Given the description of an element on the screen output the (x, y) to click on. 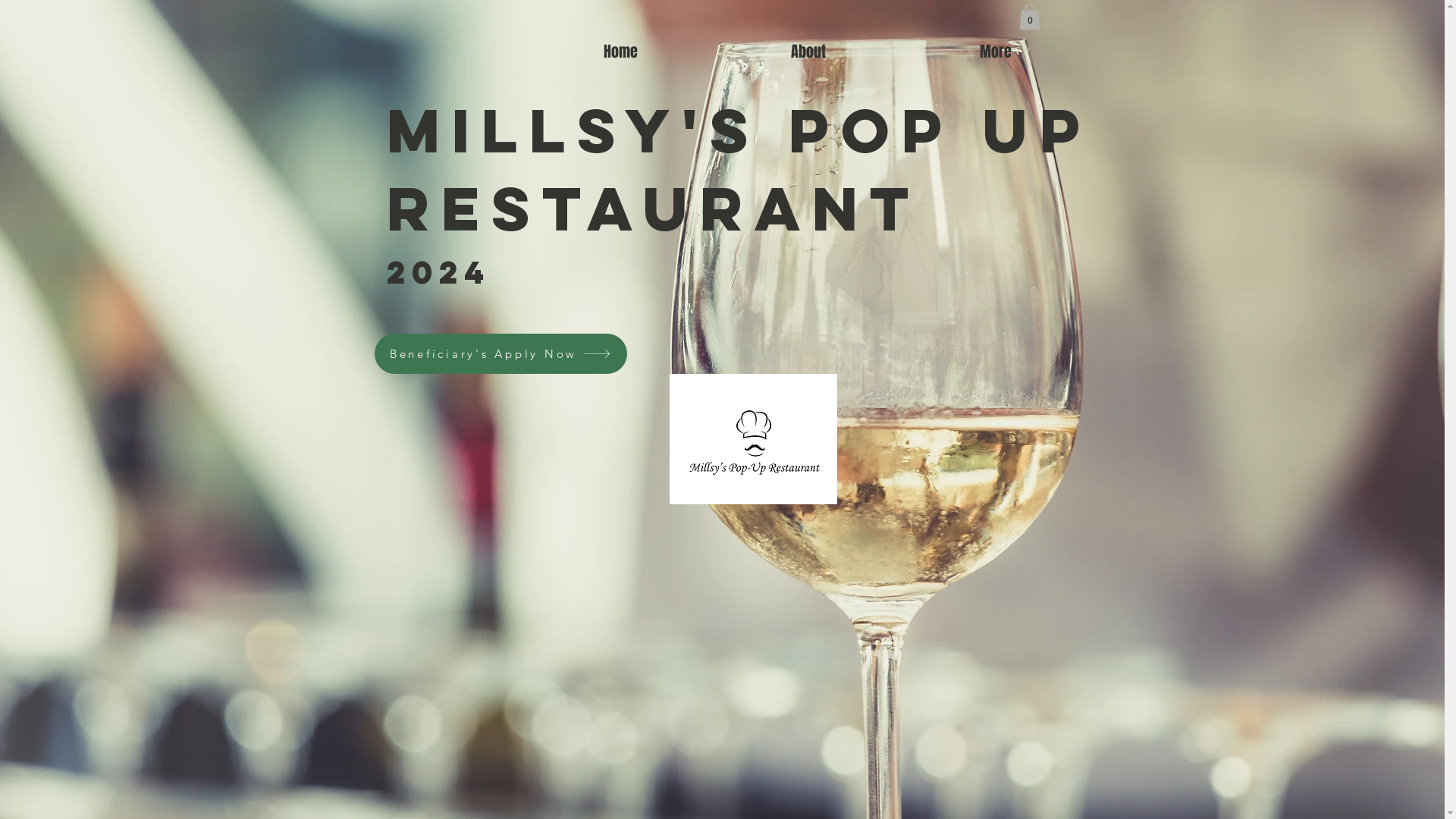
0 Element type: text (1029, 16)
Capture.PNG Element type: hover (752, 438)
About Element type: text (807, 51)
Beneficiary's Apply Now Element type: text (500, 353)
Home Element type: text (620, 51)
